Given the description of an element on the screen output the (x, y) to click on. 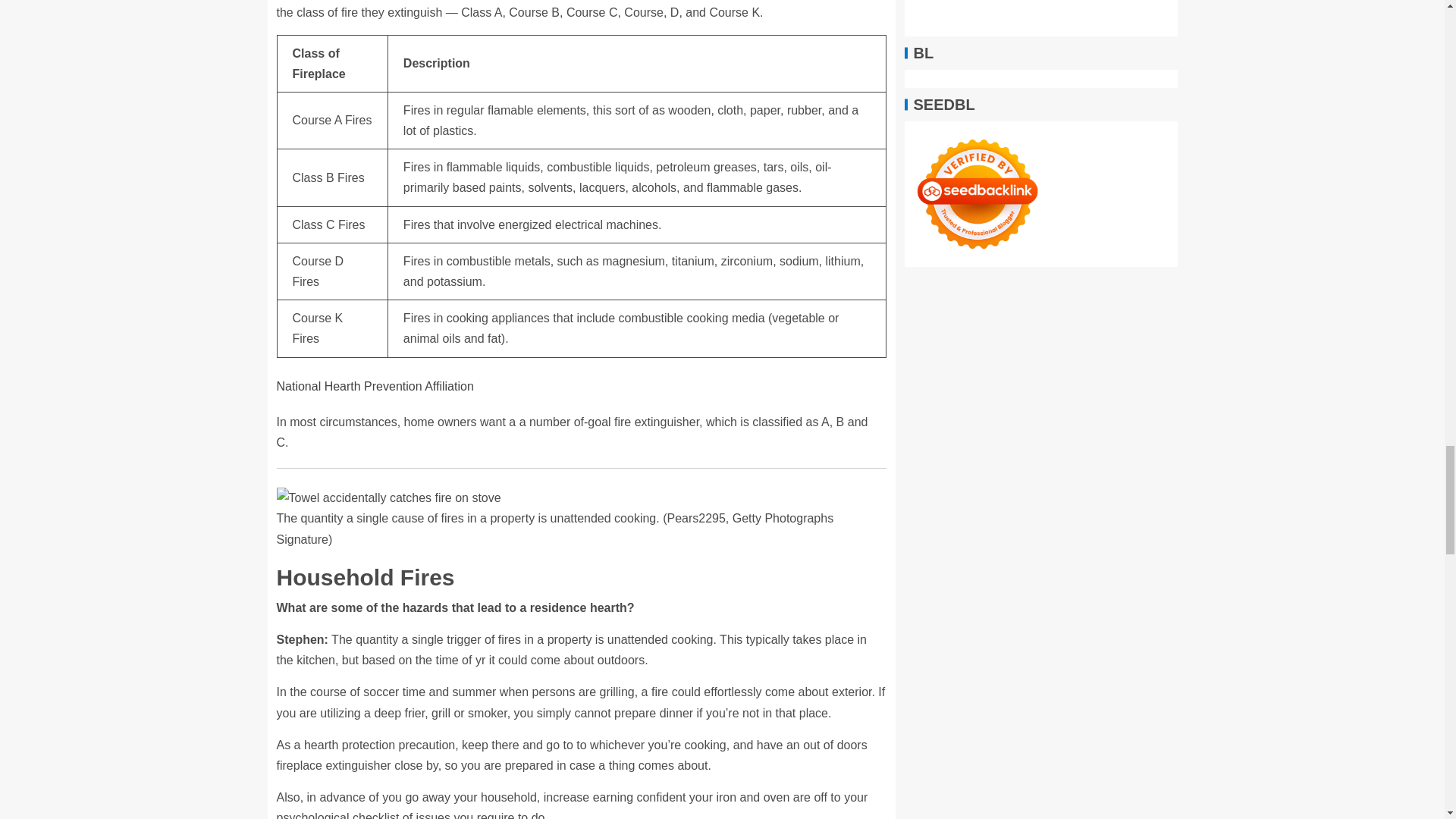
National Hearth Prevention Affiliation (374, 386)
